Given the description of an element on the screen output the (x, y) to click on. 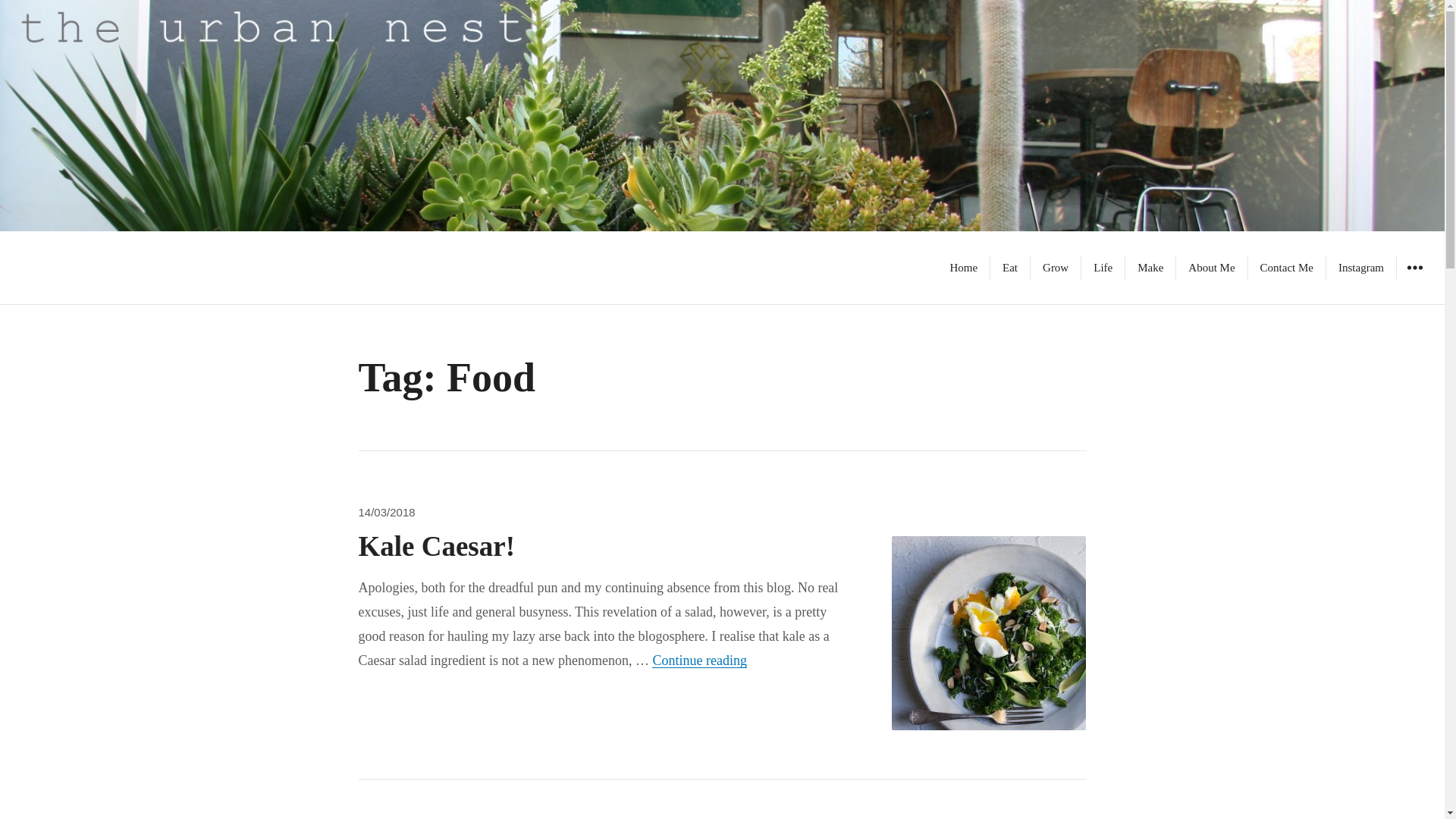
Kale Caesar! (436, 545)
Grow (1055, 267)
Instagram (1361, 267)
About Me (1211, 267)
Life (1102, 267)
T h e U r b a n N e s t (121, 267)
Home (698, 660)
Contact Me (963, 267)
Make (1285, 267)
